Given the description of an element on the screen output the (x, y) to click on. 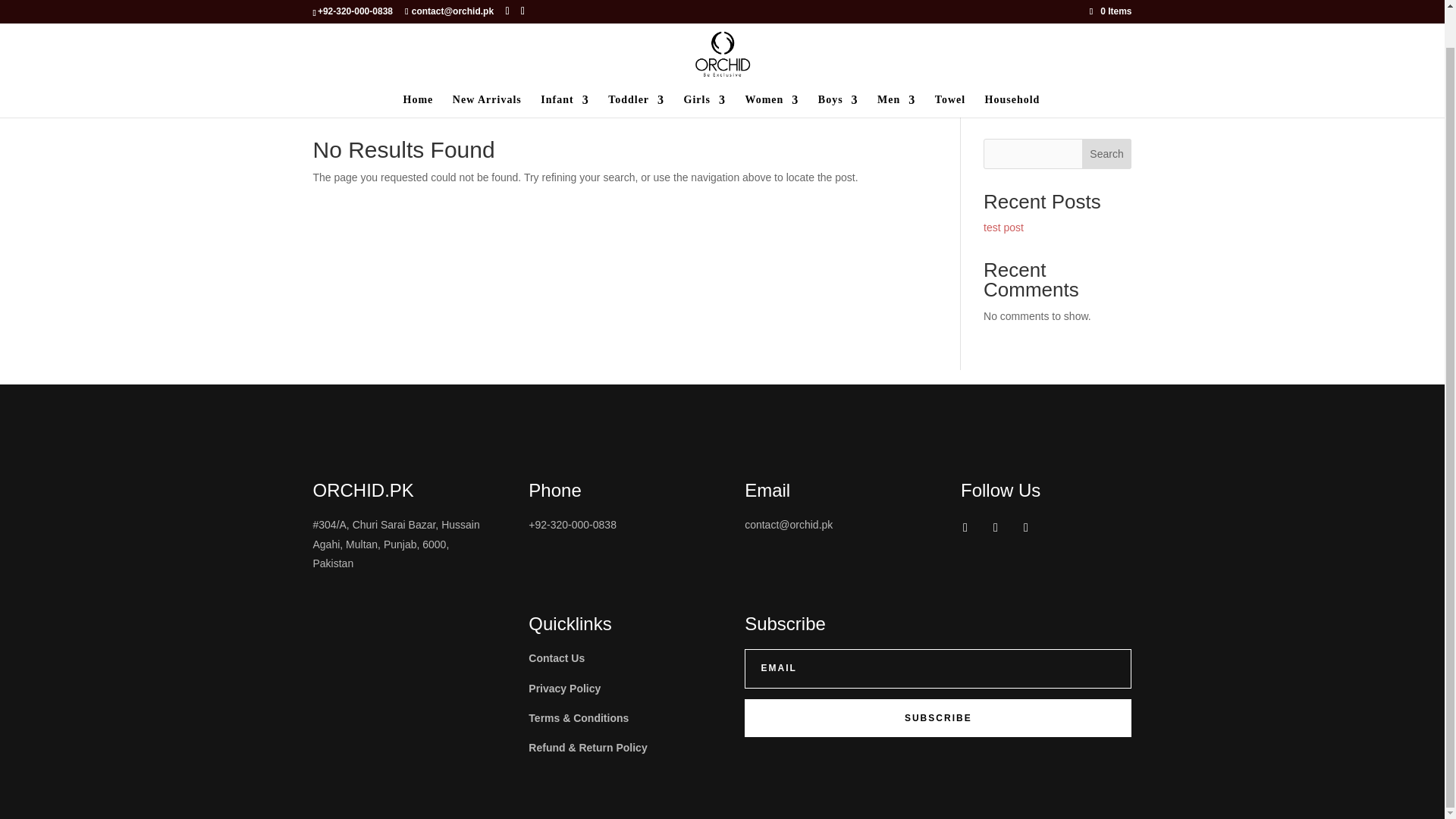
New Arrivals (486, 66)
Toddler (635, 66)
Follow on Youtube (1025, 527)
Contact Us (556, 657)
Follow on Instagram (995, 527)
Follow on Facebook (964, 527)
Privacy Policy (563, 688)
Infant (564, 66)
Home (418, 66)
